Given the description of an element on the screen output the (x, y) to click on. 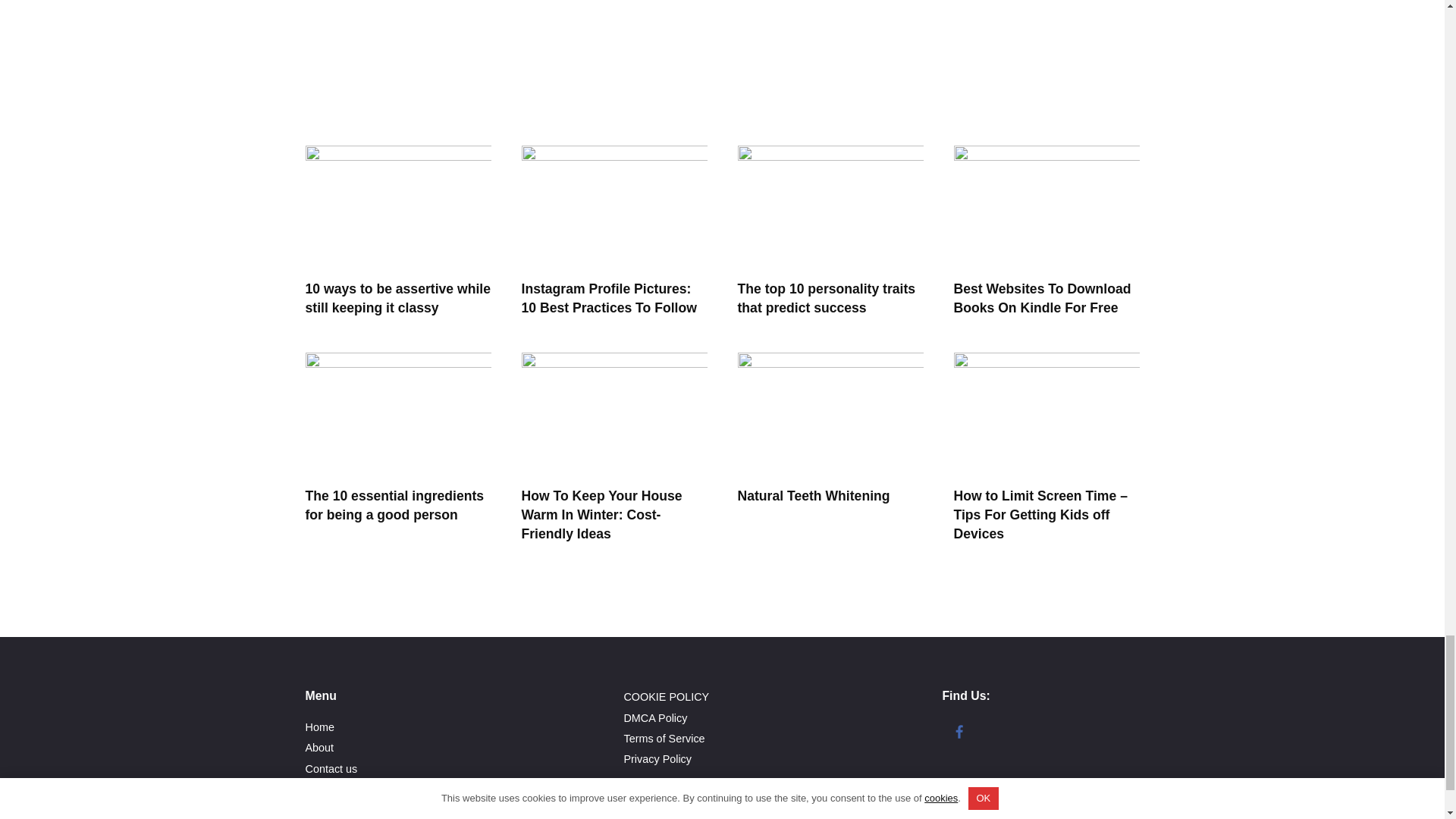
Best Websites To Download Books On Kindle For Free (1042, 298)
How To Keep Your House Warm In Winter: Cost-Friendly Ideas (601, 514)
The 10 essential ingredients for being a good person (393, 504)
Natural Teeth Whitening (812, 495)
Instagram Profile Pictures: 10 Best Practices To Follow (609, 298)
The top 10 personality traits that predict success (825, 298)
10 ways to be assertive while still keeping it classy (396, 298)
